Given the description of an element on the screen output the (x, y) to click on. 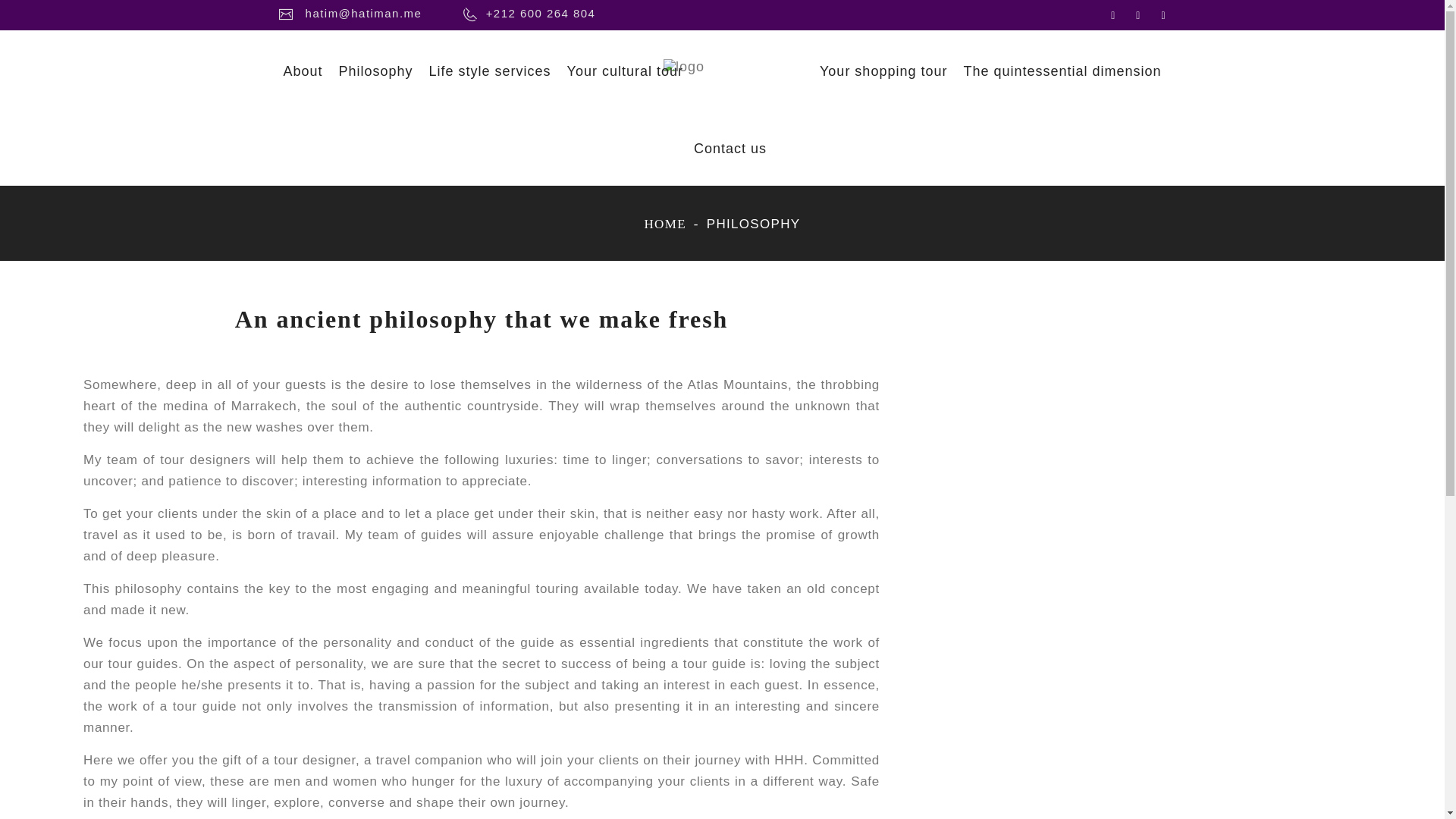
Life style services (490, 83)
Philosophy (374, 83)
HOME (665, 223)
Contact us (730, 161)
Your shopping tour (883, 83)
The quintessential dimension (1061, 83)
Your cultural tour (624, 83)
